Given the description of an element on the screen output the (x, y) to click on. 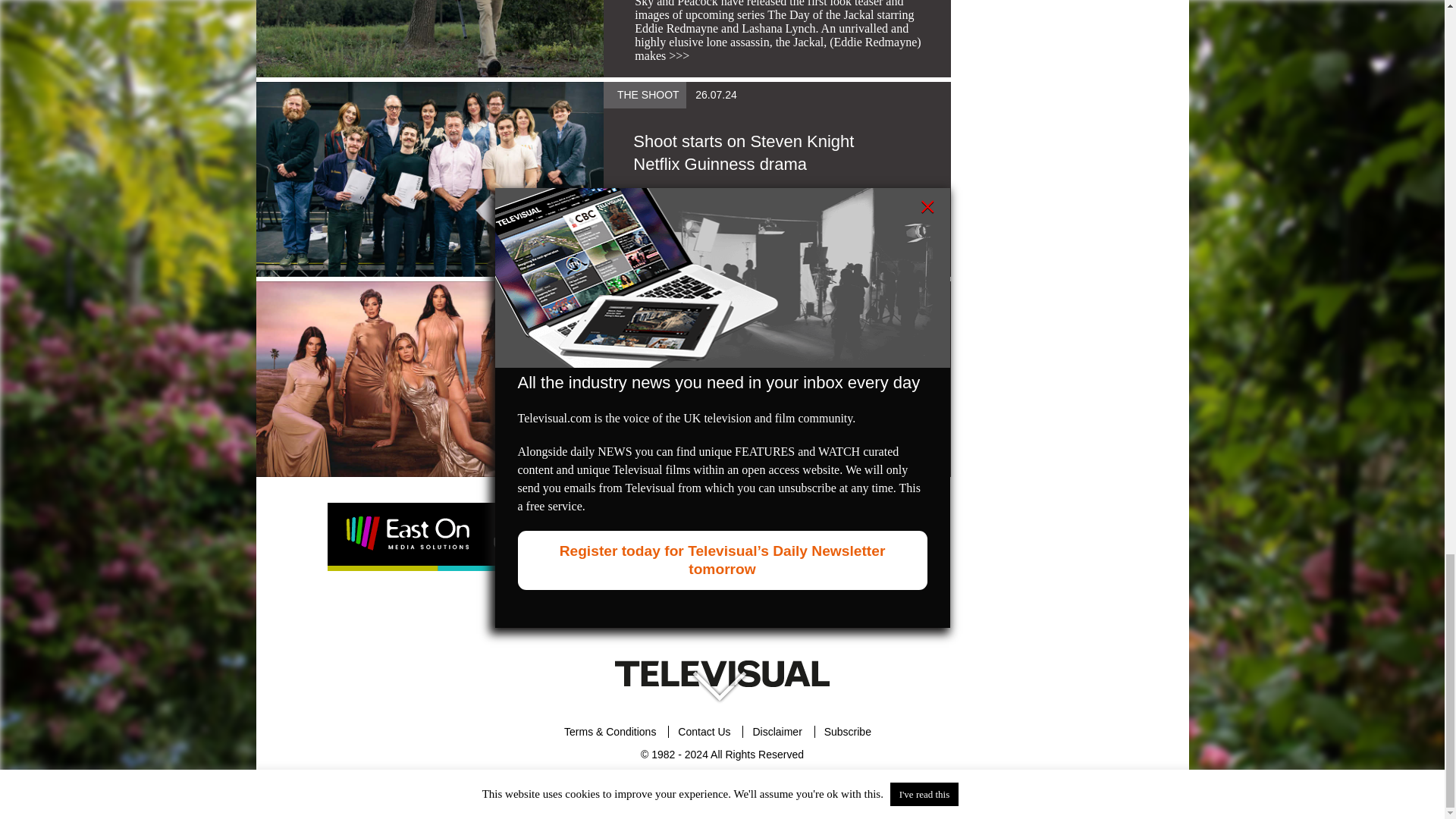
televisual-logo (721, 673)
